Given the description of an element on the screen output the (x, y) to click on. 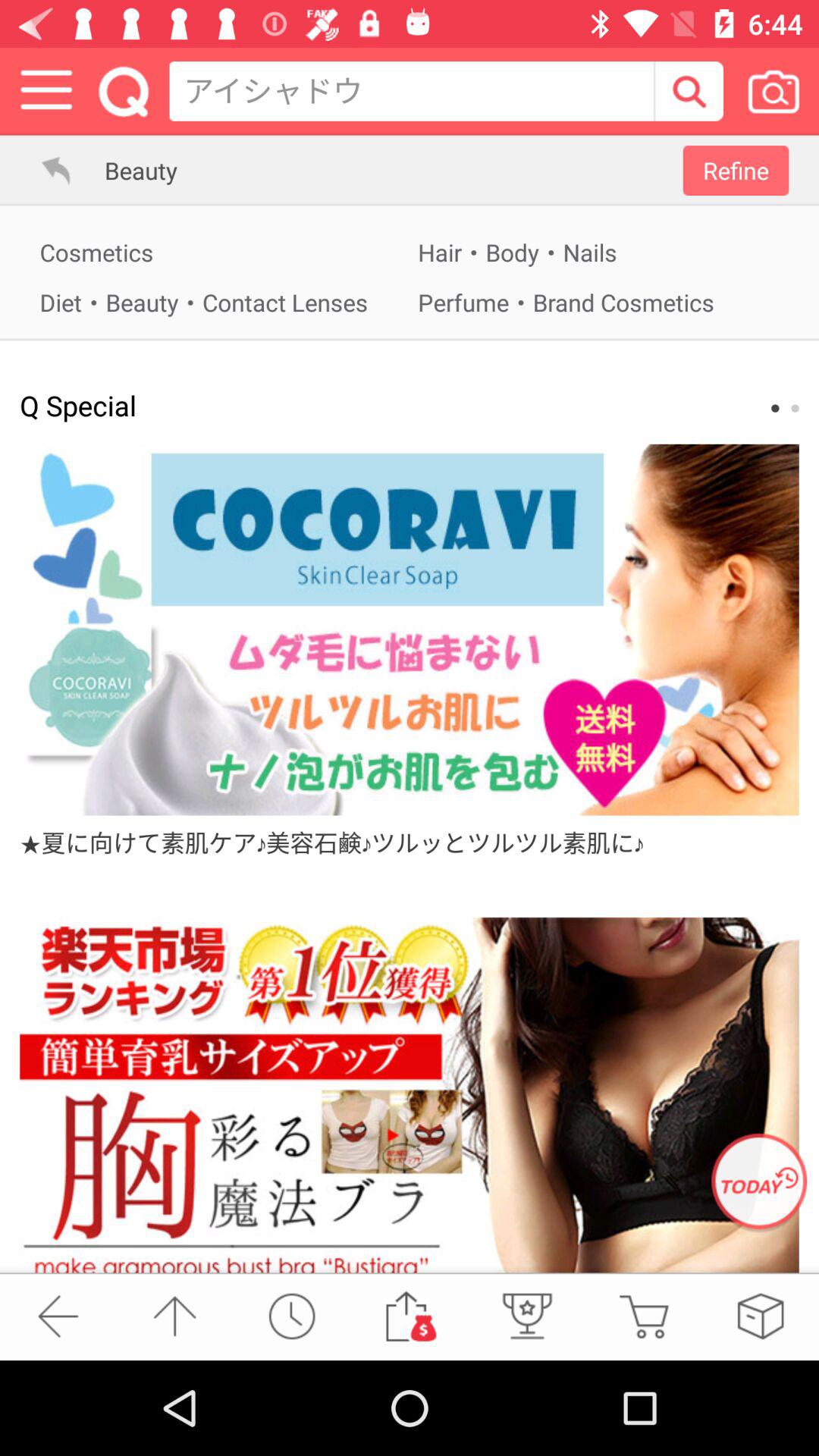
scroll up (174, 1316)
